Given the description of an element on the screen output the (x, y) to click on. 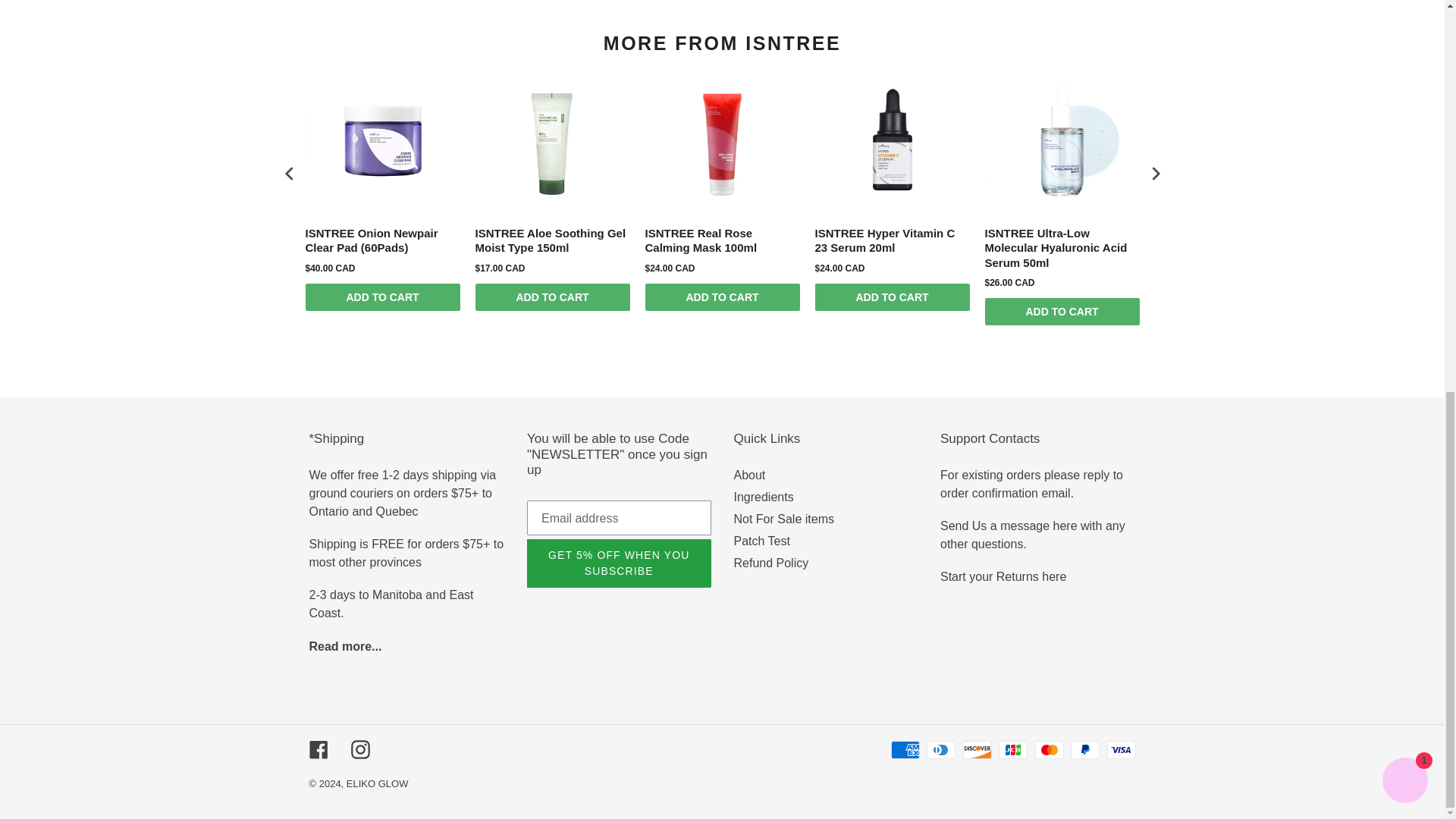
Shopify online store chat (1404, 32)
Returns (1002, 576)
Contact Us (1032, 534)
